Given the description of an element on the screen output the (x, y) to click on. 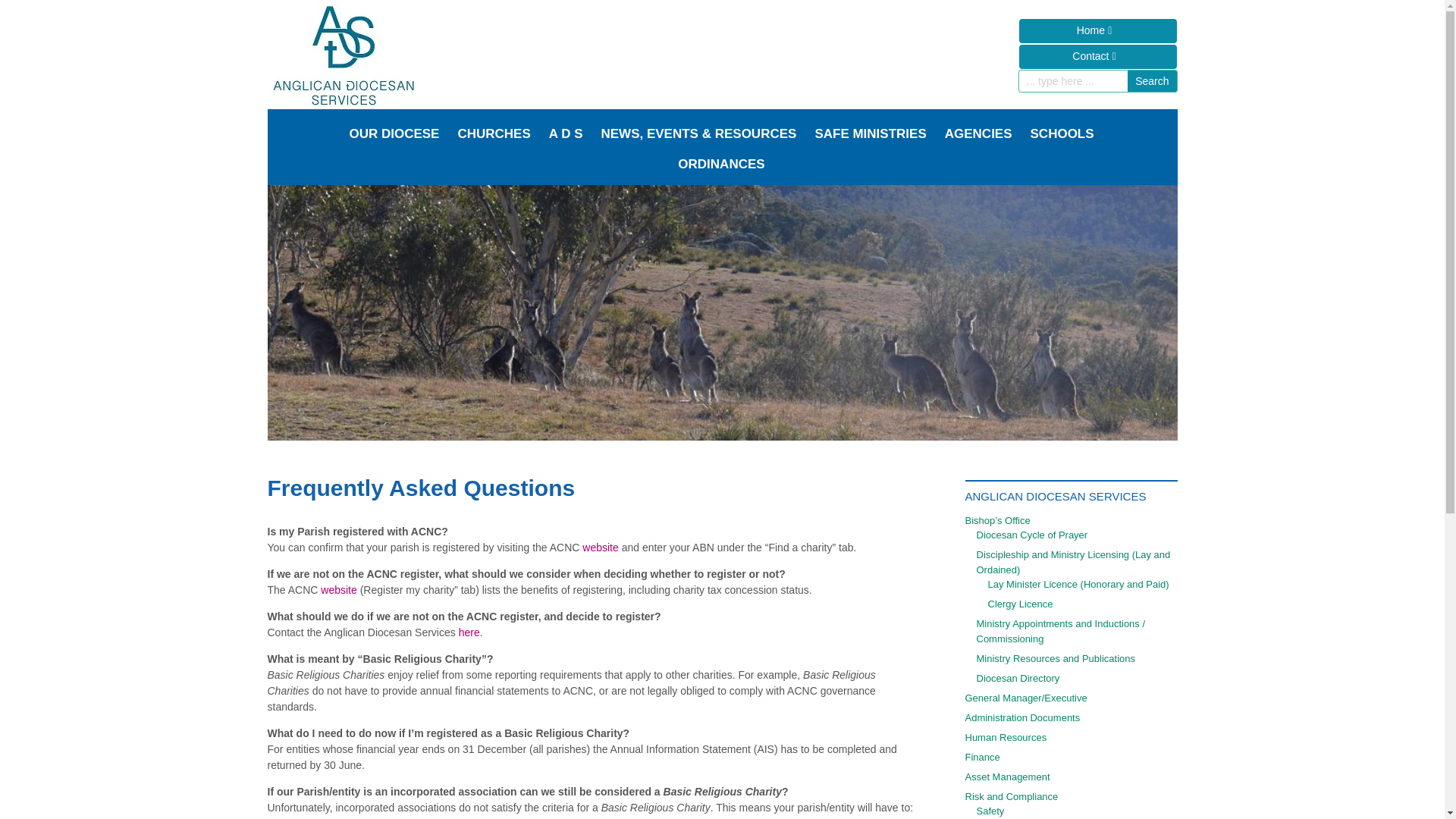
Search (1151, 80)
Search (1151, 80)
